Given the description of an element on the screen output the (x, y) to click on. 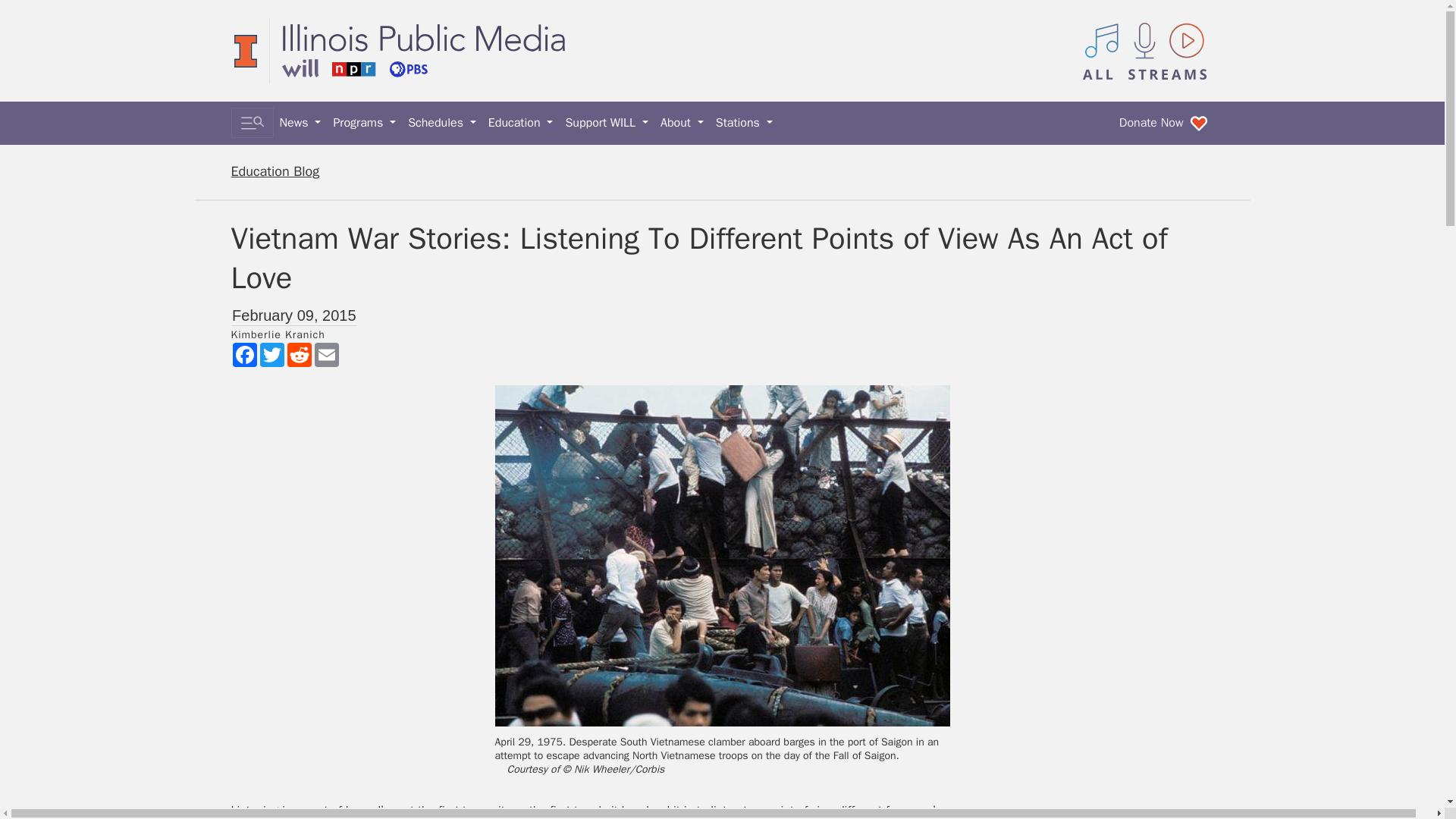
Programs (363, 122)
All IPM content streams (1144, 50)
Toggle search (251, 122)
Schedules (441, 122)
News (299, 122)
